Given the description of an element on the screen output the (x, y) to click on. 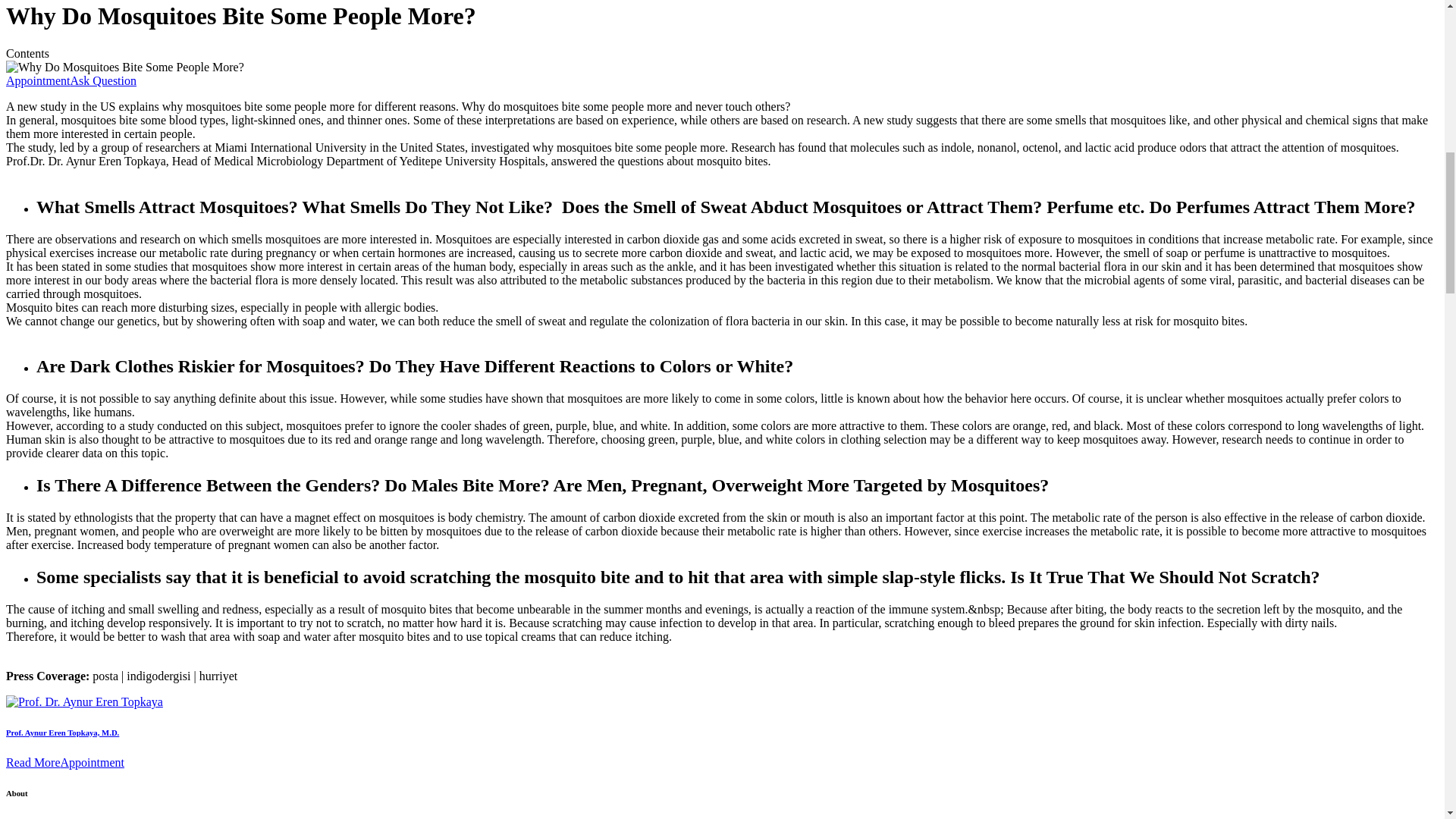
Read More (33, 762)
Appointment (92, 762)
Prof. Aynur Eren Topkaya, M.D. (84, 701)
Prof. Aynur Eren Topkaya, M.D. (62, 732)
Why Do Mosquitoes Bite Some People More? (124, 67)
